Given the description of an element on the screen output the (x, y) to click on. 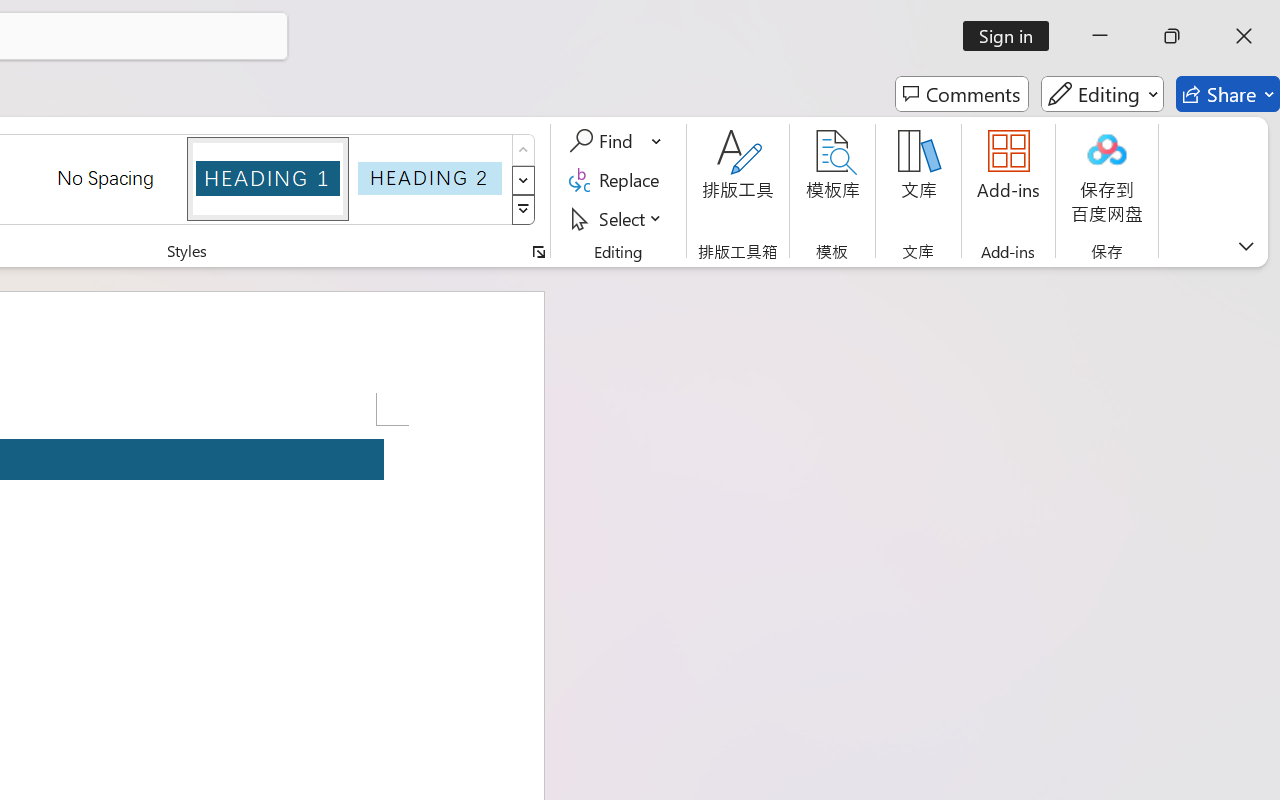
Editing (1101, 94)
